Given the description of an element on the screen output the (x, y) to click on. 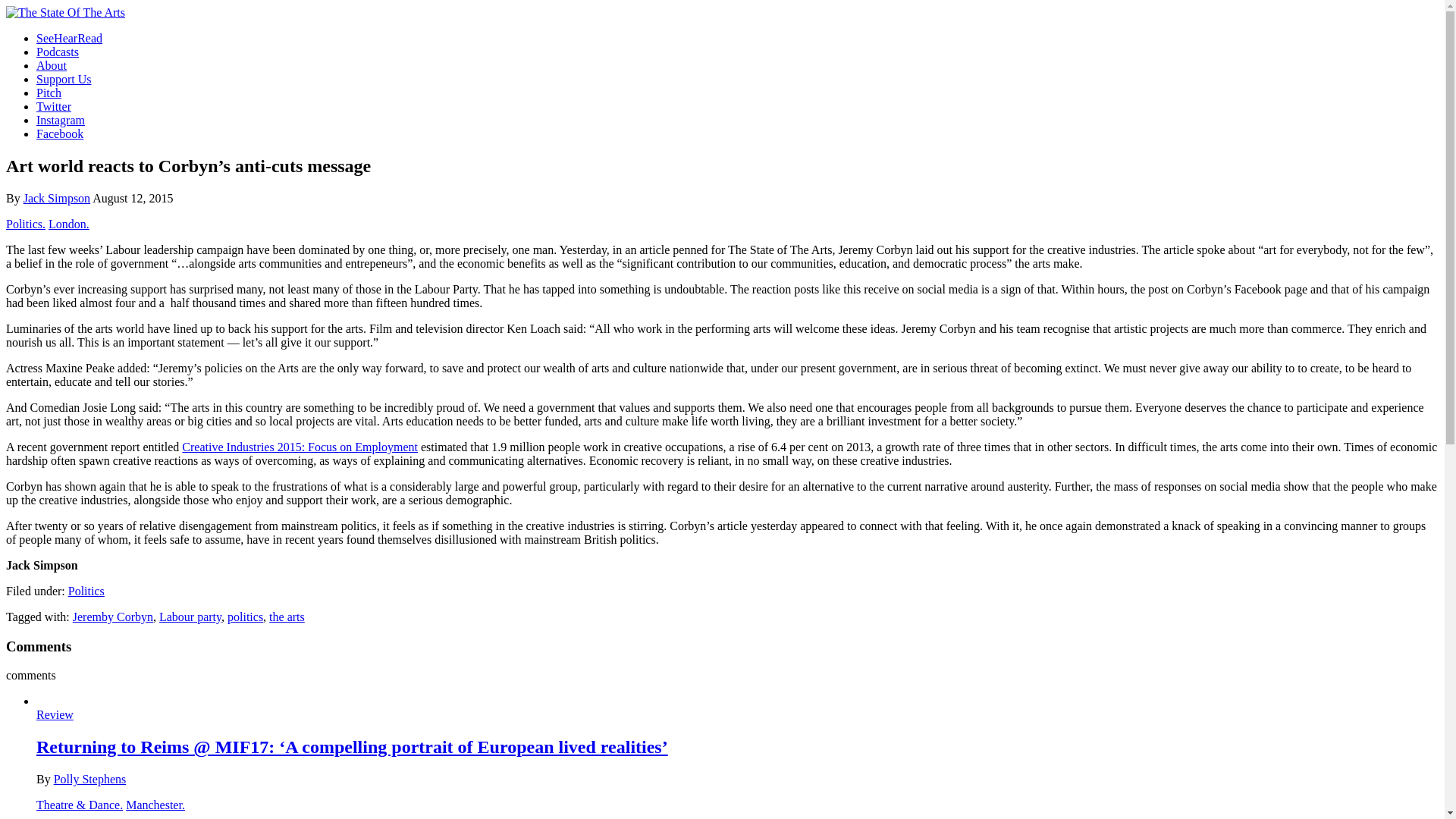
Jack Simpson (56, 197)
SeeHearRead (68, 38)
London. (68, 223)
Posts by Polly Stephens (89, 779)
the arts (286, 616)
politics (245, 616)
Review (55, 714)
Support Us (63, 78)
Podcasts (57, 51)
Instagram (60, 119)
